Given the description of an element on the screen output the (x, y) to click on. 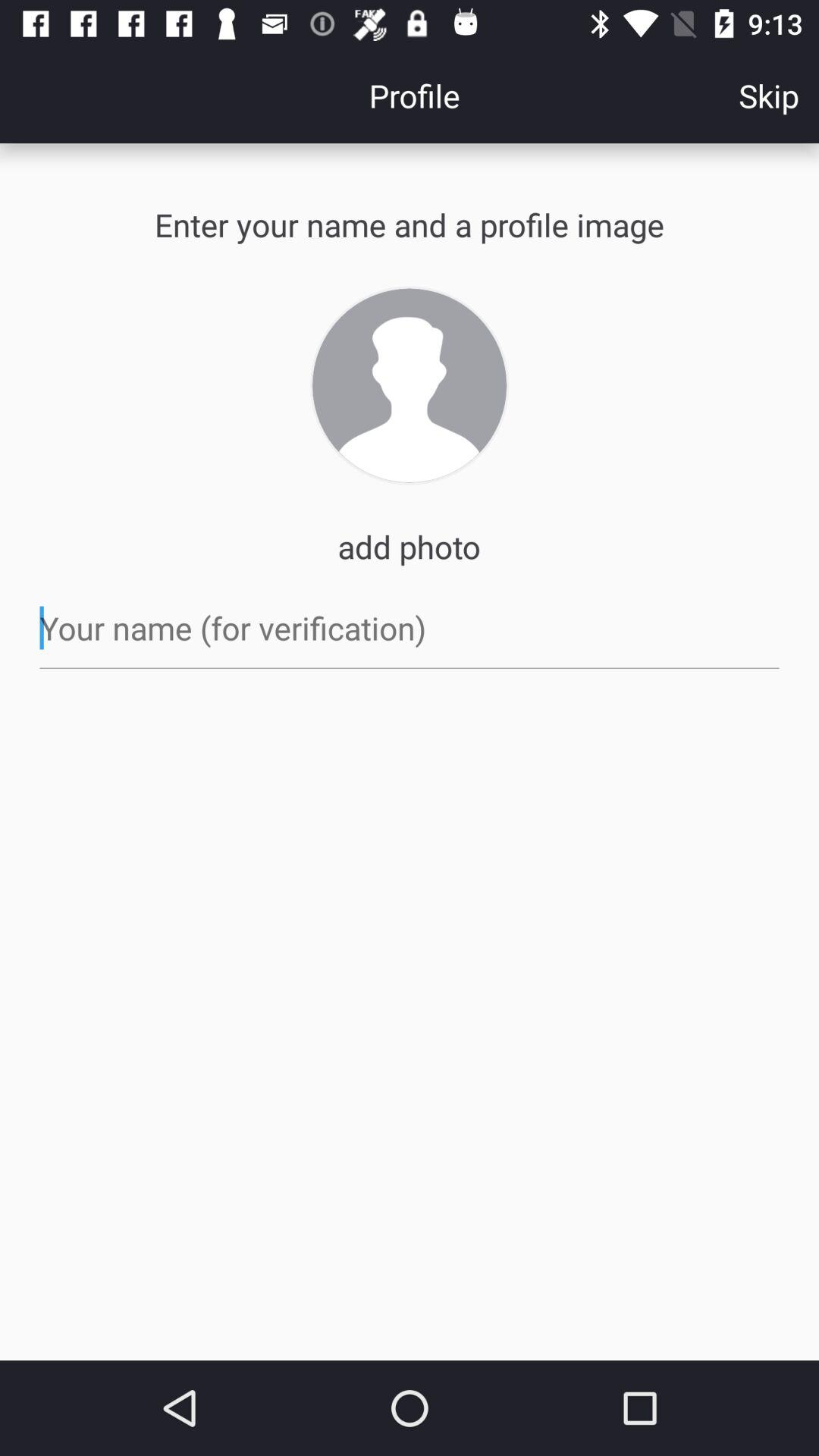
enter your name location (409, 627)
